Given the description of an element on the screen output the (x, y) to click on. 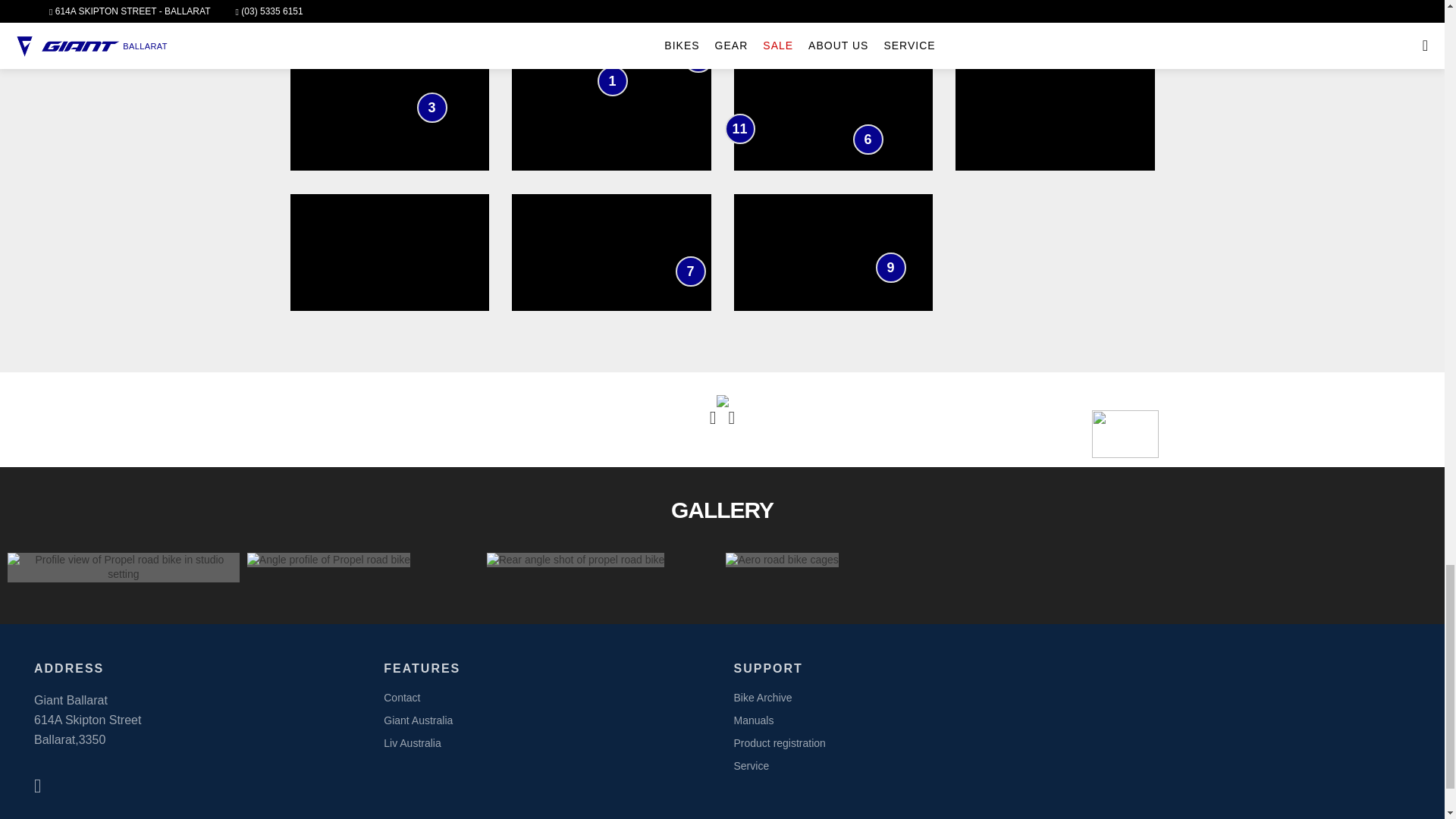
Full Composite Fork (866, 139)
AeroSystem Shaping (611, 81)
Advanced SL Composite (697, 57)
Vector Integrated Seatpost (588, 14)
OverDrive Aero (836, 10)
Disc-brake Integration (890, 267)
PowerCore (689, 271)
Aero Bottle Cages (740, 128)
Aero Tubeless WheelSystem (431, 107)
New Cable Routing (820, 37)
